Given the description of an element on the screen output the (x, y) to click on. 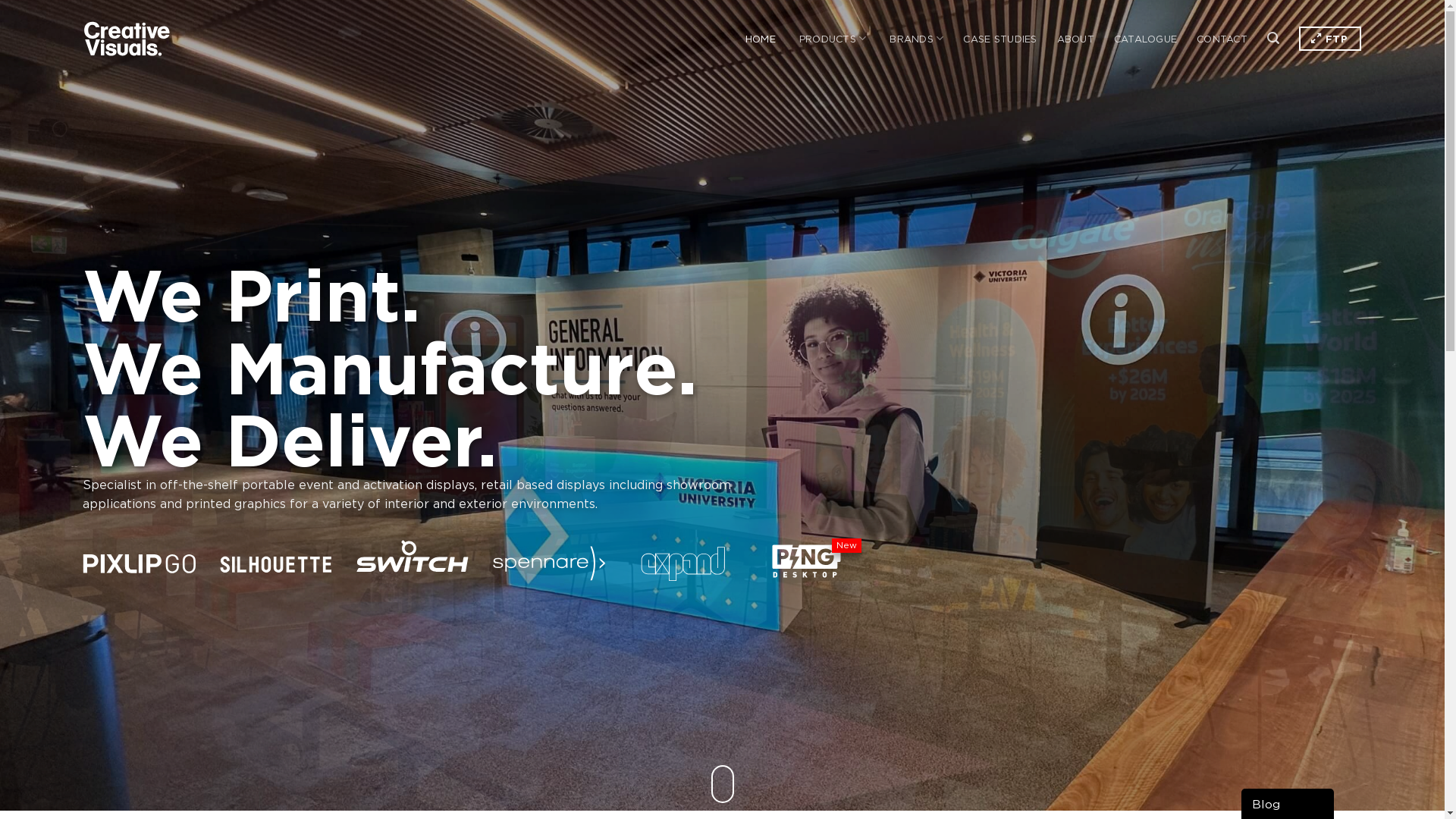
Creative Visuals - Large format digital printing Element type: hover (126, 38)
CATALOGUE Element type: text (1144, 38)
PRODUCTS Element type: text (832, 38)
HOME Element type: text (760, 38)
ABOUT Element type: text (1075, 38)
FTP Element type: text (1330, 38)
Skip to content Element type: text (0, 0)
BRANDS Element type: text (916, 38)
CASE STUDIES Element type: text (999, 38)
CONTACT Element type: text (1221, 38)
